Given the description of an element on the screen output the (x, y) to click on. 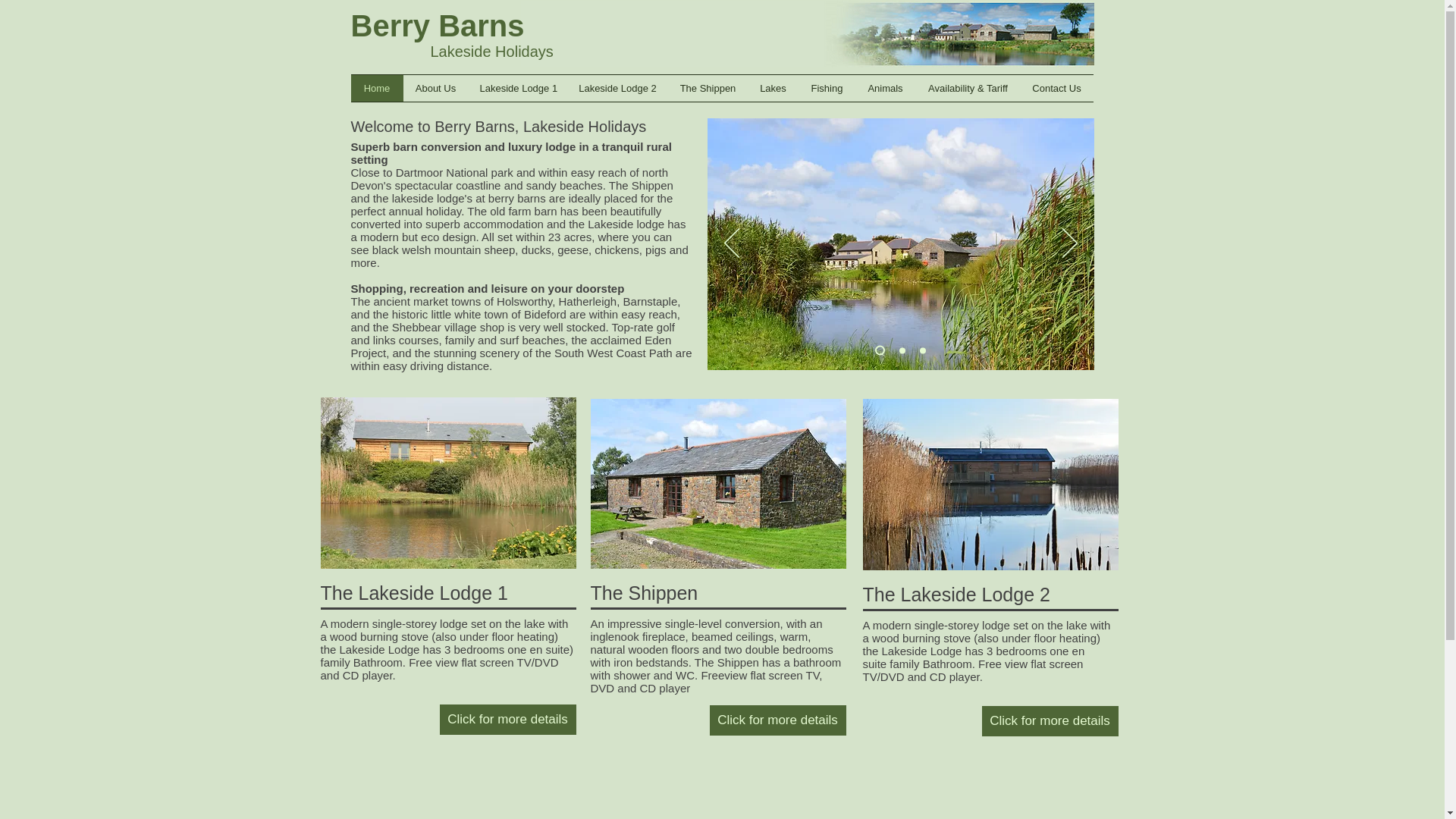
Home (376, 88)
Click for more details (777, 720)
Animals (885, 88)
Fishing (827, 88)
About Us (435, 88)
Lakes (773, 88)
Click for more details (507, 719)
Lakeside Lodge 2 (617, 88)
Click for more details (1049, 720)
The Shippen (708, 88)
Contact Us (1056, 88)
Lakeside Lodge 1 (517, 88)
